Given the description of an element on the screen output the (x, y) to click on. 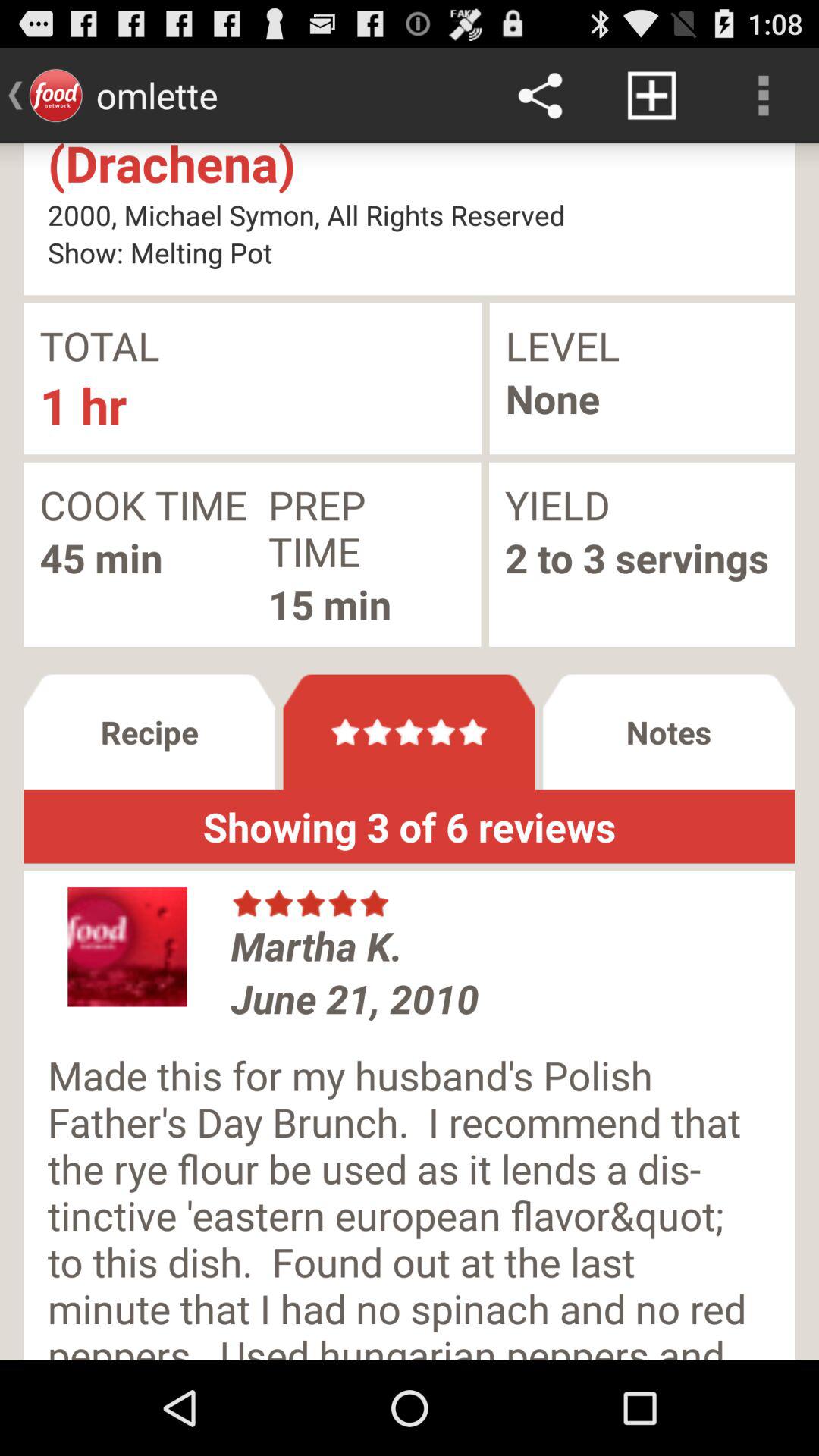
turn on the app above the baked polish omlette (651, 95)
